Given the description of an element on the screen output the (x, y) to click on. 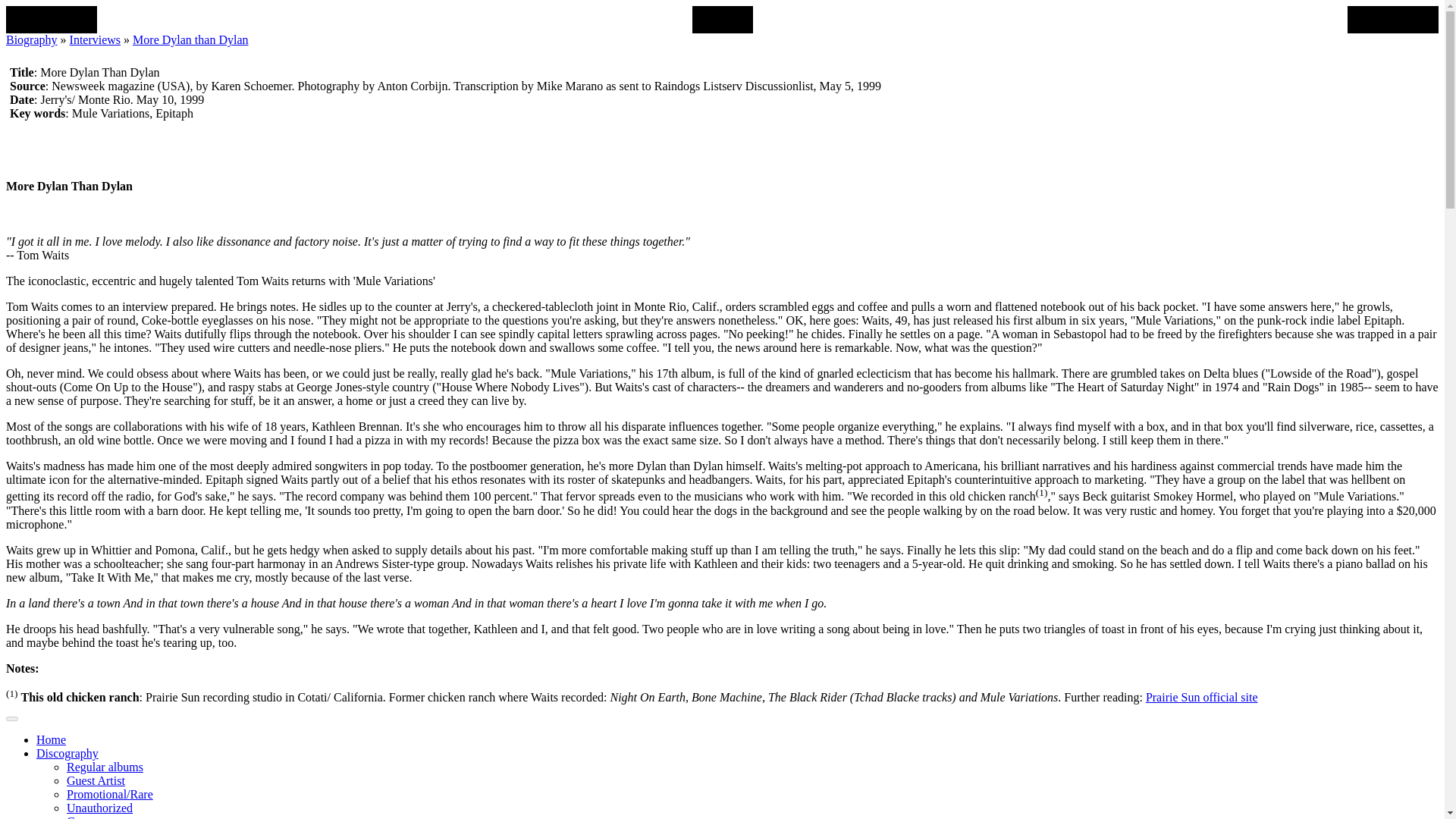
Regular albums (104, 766)
Interviews (94, 39)
Guest Artist (95, 780)
More Dylan than Dylan (189, 39)
Unauthorized (99, 807)
Discography (67, 753)
Biography (31, 39)
Home (50, 739)
Prairie Sun official site (1201, 697)
Covers (83, 816)
